Given the description of an element on the screen output the (x, y) to click on. 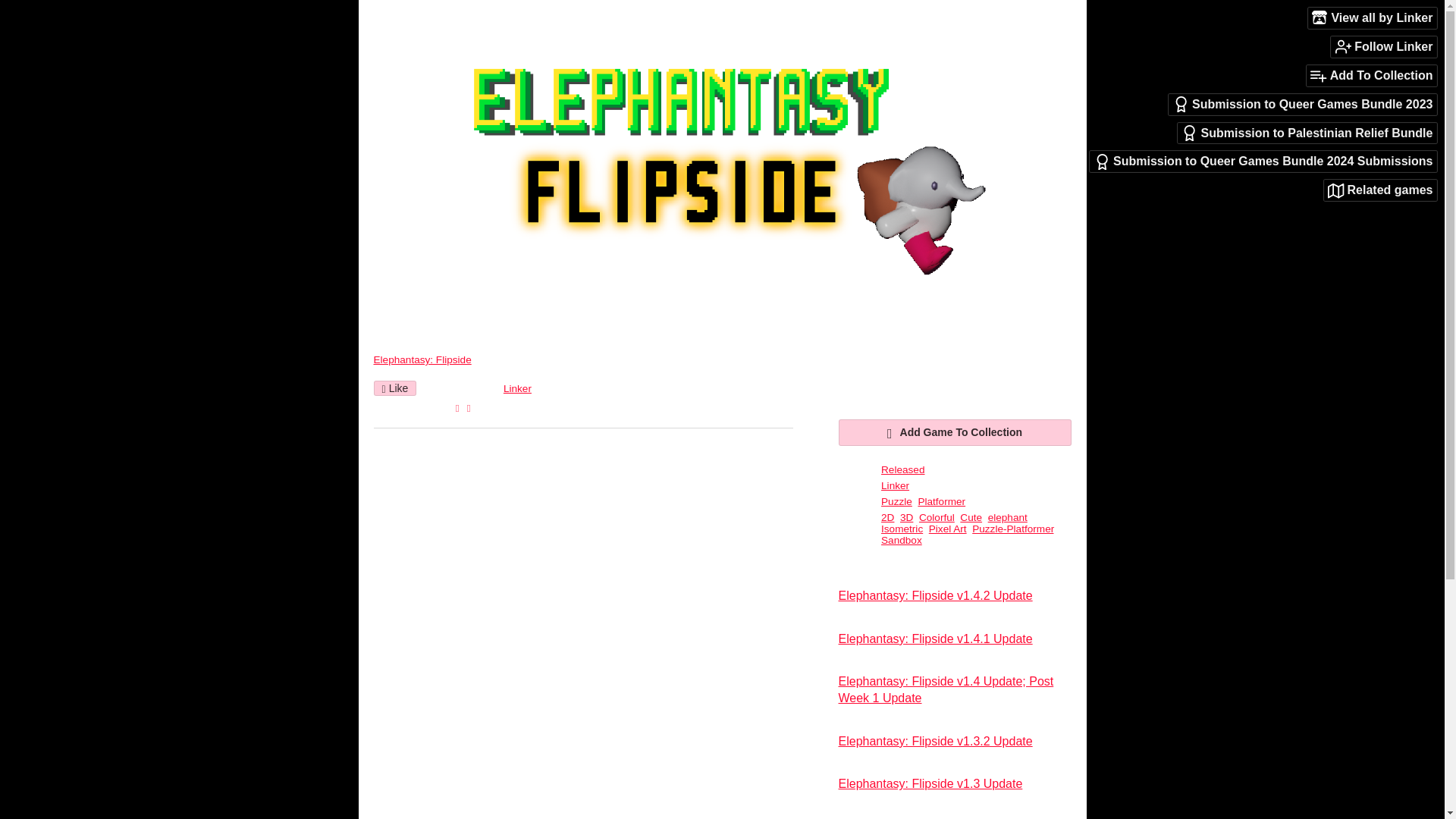
Released (902, 469)
Elephantasy: Flipside v1.3.2 Update (935, 740)
elephant (1007, 517)
Pixel Art (947, 528)
Elephantasy: Flipside (421, 359)
Puzzle-Platformer (1012, 528)
Sandbox (900, 540)
2023-03-02 23:54:45 (462, 388)
Related games (1380, 189)
View all by Linker (1372, 17)
Isometric (901, 528)
Puzzle (896, 501)
Linker (517, 388)
Platformer (941, 501)
2D (886, 517)
